Given the description of an element on the screen output the (x, y) to click on. 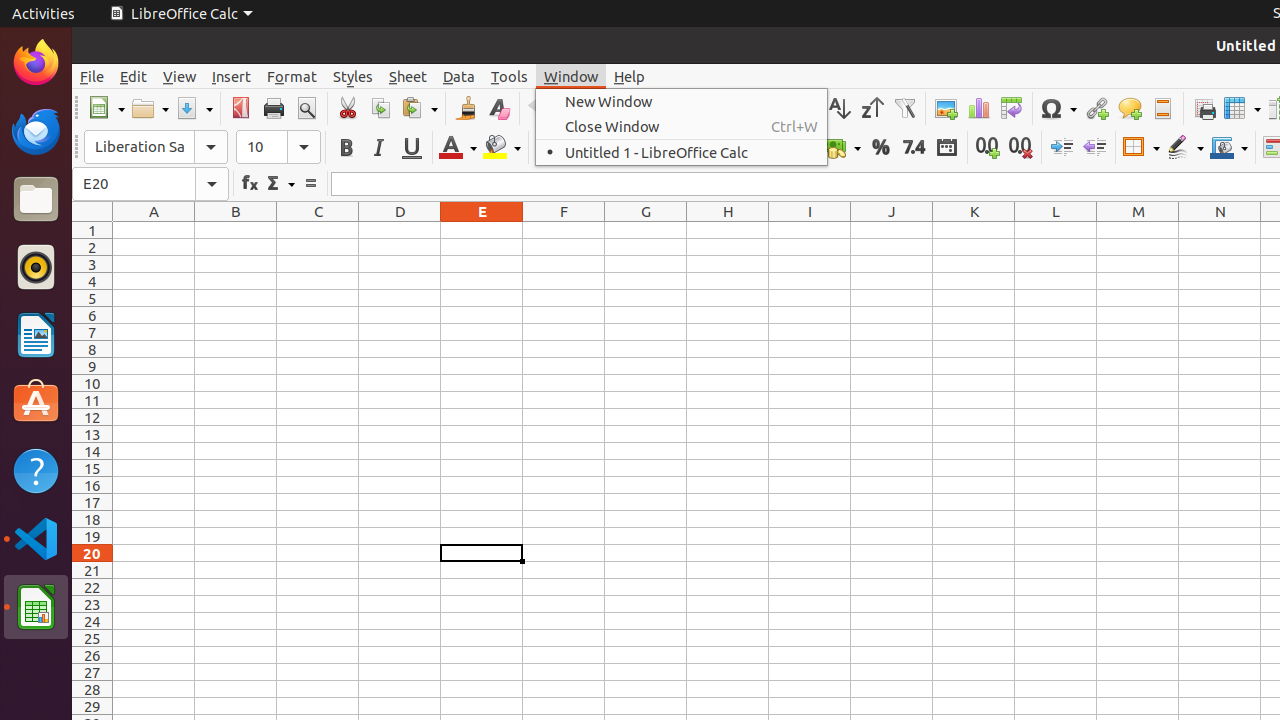
Visual Studio Code Element type: push-button (36, 538)
Open Element type: push-button (150, 108)
Hyperlink Element type: toggle-button (1096, 108)
Border Color Element type: push-button (1229, 147)
Italic Element type: toggle-button (378, 147)
